Given the description of an element on the screen output the (x, y) to click on. 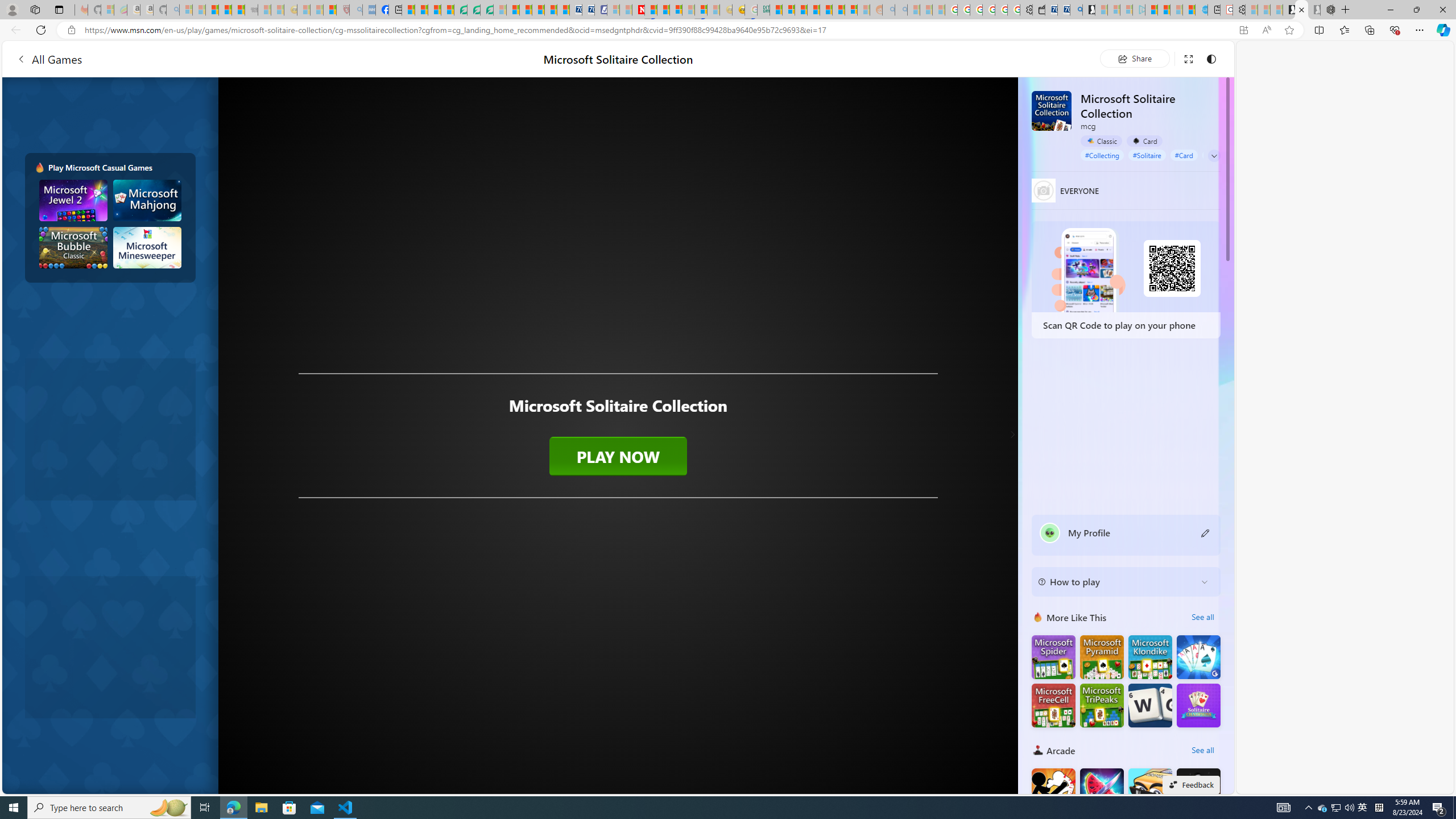
Terms of Use Agreement (473, 9)
See all (1202, 750)
Microsoft Mahjong (147, 200)
Microsoft Bubble Classic (73, 247)
Bing Real Estate - Home sales and rental listings (1076, 9)
Classic (1101, 141)
Cubes2048 (1149, 789)
